Given the description of an element on the screen output the (x, y) to click on. 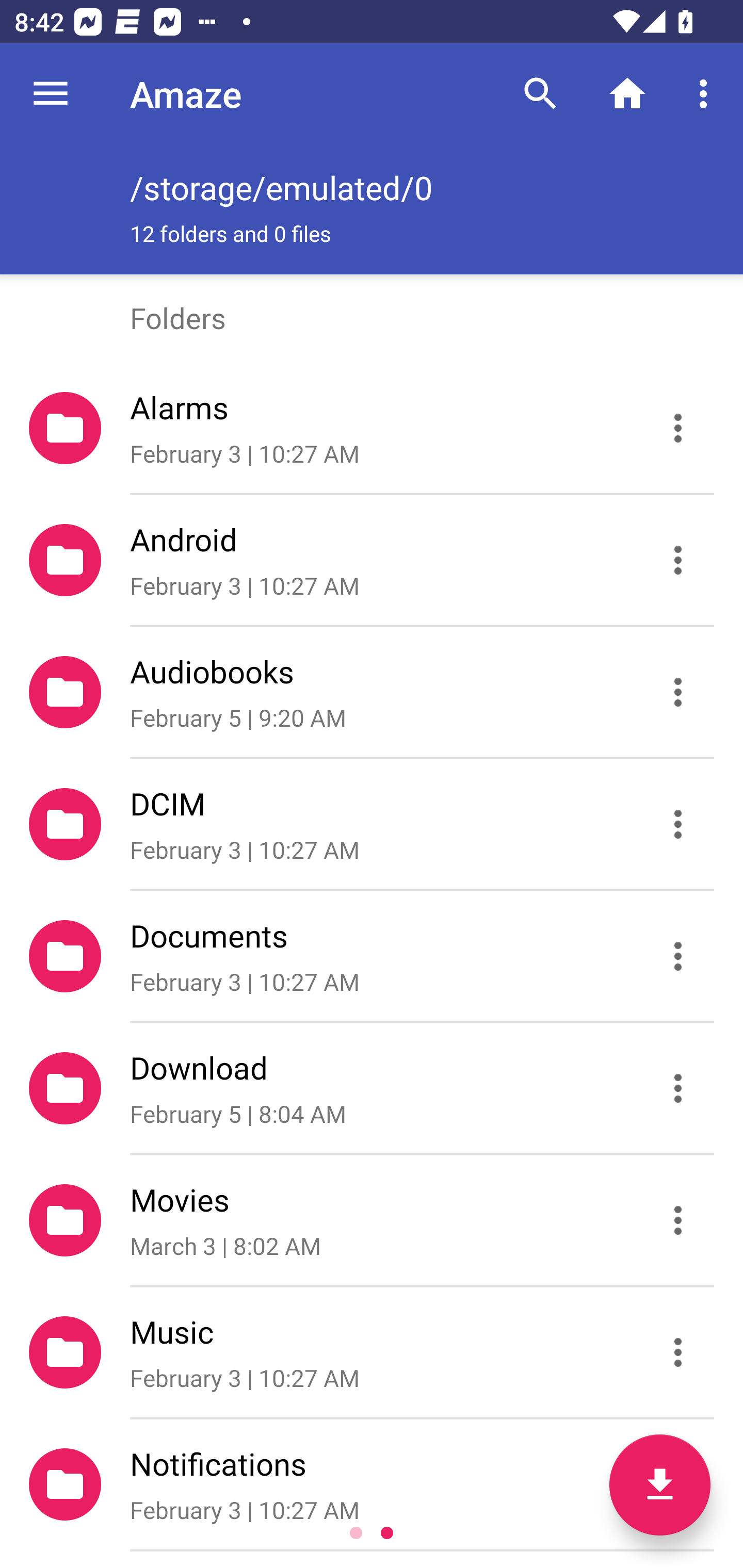
Navigate up (50, 93)
Search (540, 93)
Home (626, 93)
More options (706, 93)
Alarms February 3 | 10:27 AM (371, 427)
Android February 3 | 10:27 AM (371, 560)
Audiobooks February 5 | 9:20 AM (371, 692)
DCIM February 3 | 10:27 AM (371, 823)
Documents February 3 | 10:27 AM (371, 955)
Download February 5 | 8:04 AM (371, 1088)
Movies March 3 | 8:02 AM (371, 1220)
Music February 3 | 10:27 AM (371, 1352)
Notifications February 3 | 10:27 AM (371, 1484)
